Given the description of an element on the screen output the (x, y) to click on. 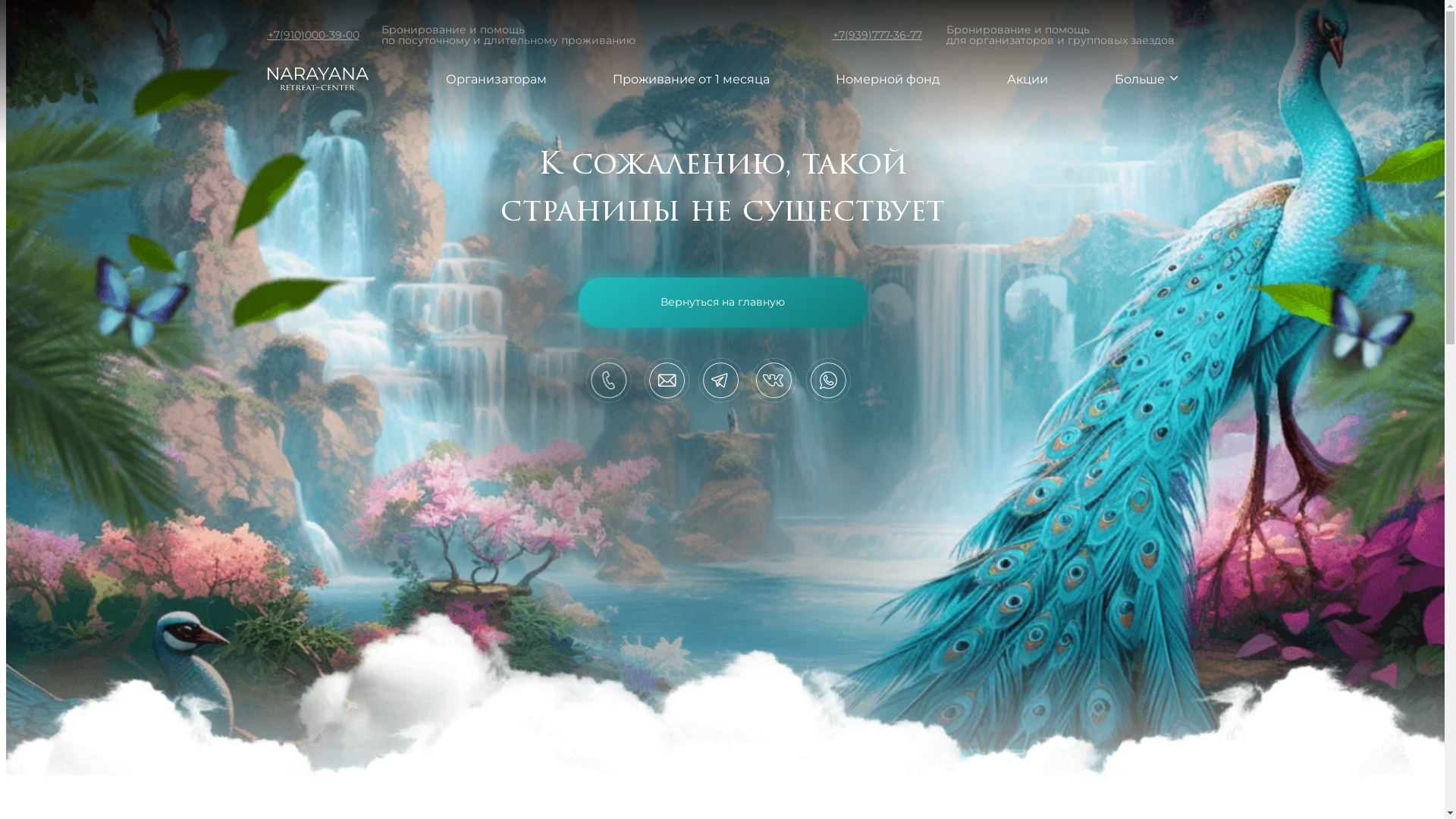
+7(910)000-39-00 Element type: text (312, 34)
+7(939)777-36-77 Element type: text (877, 34)
